Given the description of an element on the screen output the (x, y) to click on. 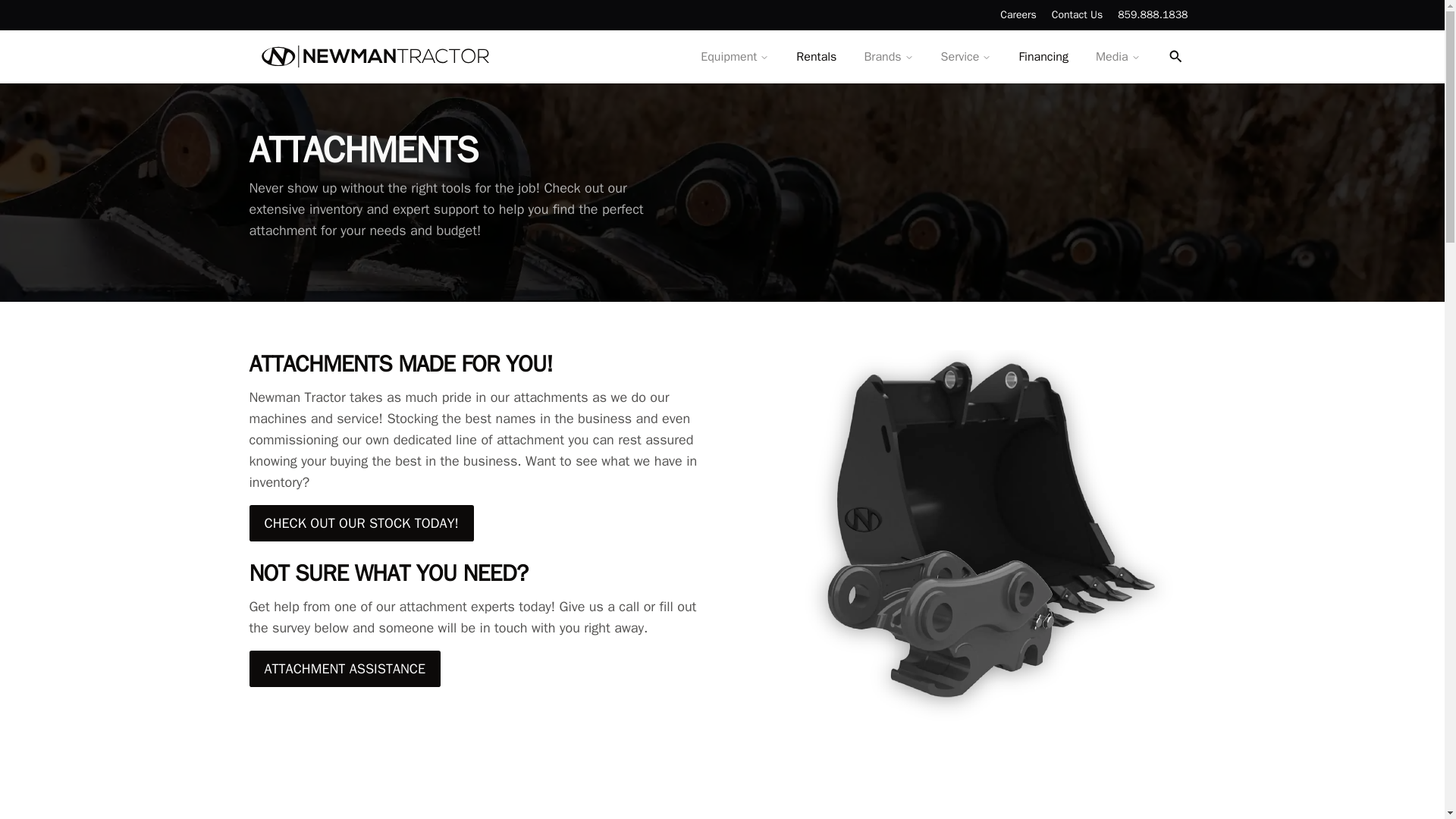
Rentals (816, 56)
ATTACHMENTS (466, 149)
ATTACHMENT ASSISTANCE (344, 668)
Contact Us (1076, 15)
Equipment (734, 56)
Brands (887, 56)
859.888.1838 (1152, 15)
Brands (882, 56)
Media (1118, 56)
Financing (1043, 56)
